Given the description of an element on the screen output the (x, y) to click on. 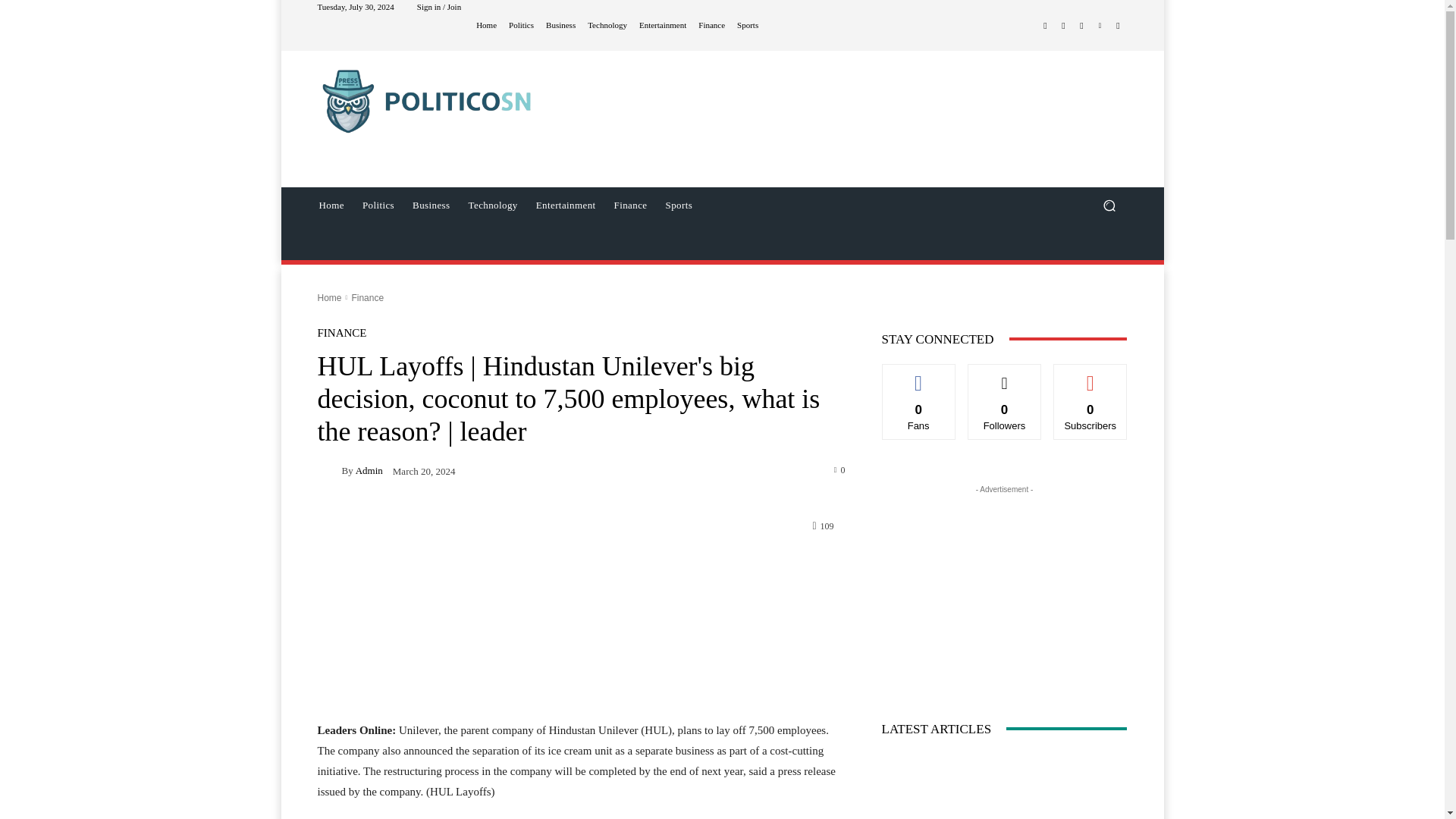
Entertainment (662, 25)
Youtube (1117, 25)
Technology (493, 205)
Politics (521, 25)
Entertainment (566, 205)
Vimeo (1099, 25)
Finance (630, 205)
Technology (607, 25)
Finance (711, 25)
View all posts in Finance (367, 297)
Business (560, 25)
Facebook (1044, 25)
Instagram (1062, 25)
Home (330, 205)
Twitter (1080, 25)
